Given the description of an element on the screen output the (x, y) to click on. 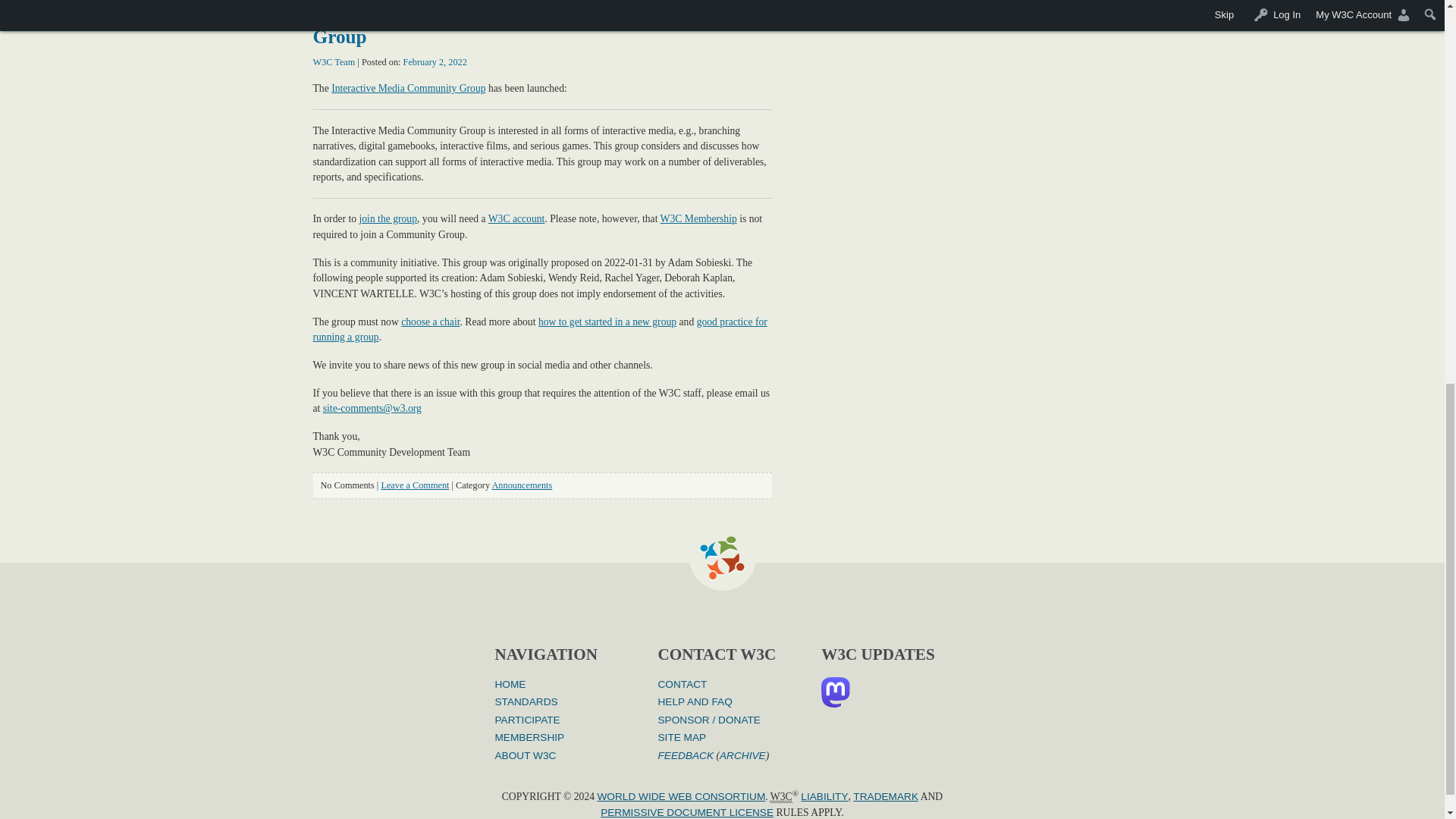
W3C Team (334, 61)
Interactive Media Community Group (407, 88)
Leave a Comment (414, 484)
W3C Membership (698, 218)
World Wide Web Consortium (781, 797)
W3C Software and Document Notice and License (686, 812)
Call for Participation in Interactive Media Community Group (537, 23)
View all posts by W3C Team (334, 61)
W3C account (515, 218)
choose a chair (430, 321)
Follow W3C on Mastodon (841, 691)
good practice for running a group (540, 329)
February 2, 2022 (435, 61)
Announcements (521, 484)
